Given the description of an element on the screen output the (x, y) to click on. 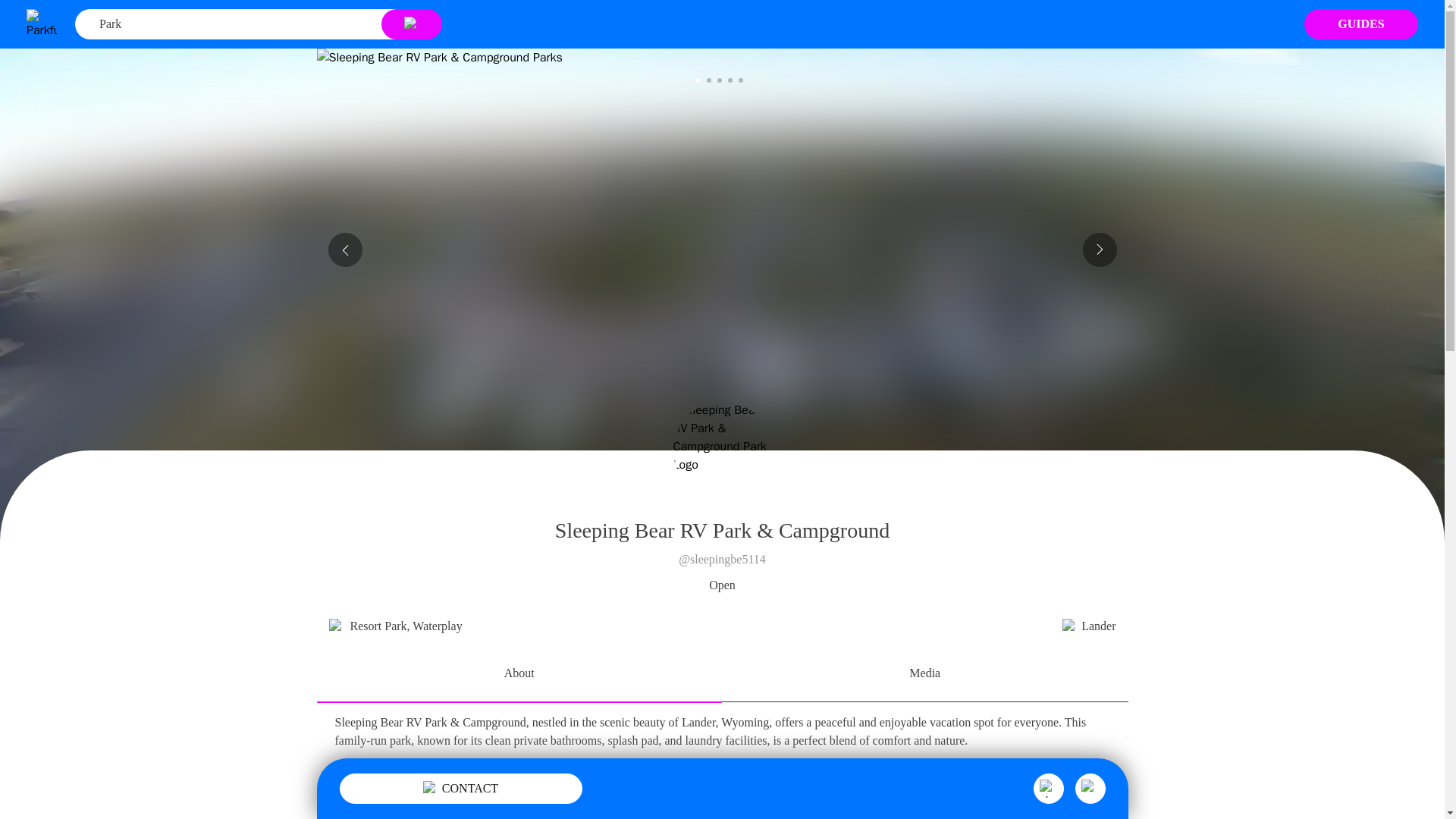
Media (924, 675)
GUIDES (1361, 24)
About (519, 675)
